Given the description of an element on the screen output the (x, y) to click on. 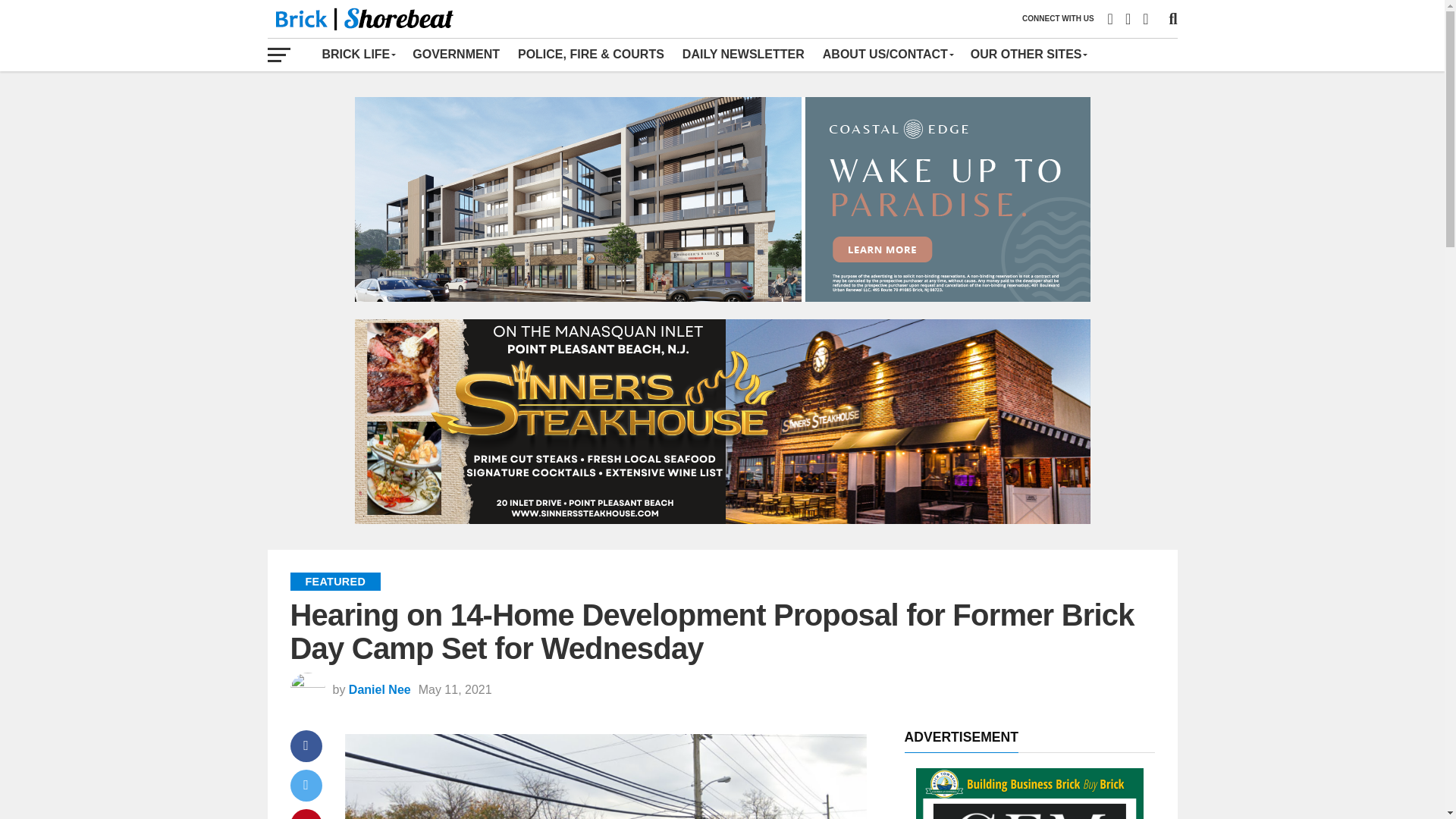
GOVERNMENT (455, 54)
OUR OTHER SITES (1028, 54)
DAILY NEWSLETTER (742, 54)
Posts by Daniel Nee (379, 689)
BRICK LIFE (358, 54)
Daniel Nee (379, 689)
